Given the description of an element on the screen output the (x, y) to click on. 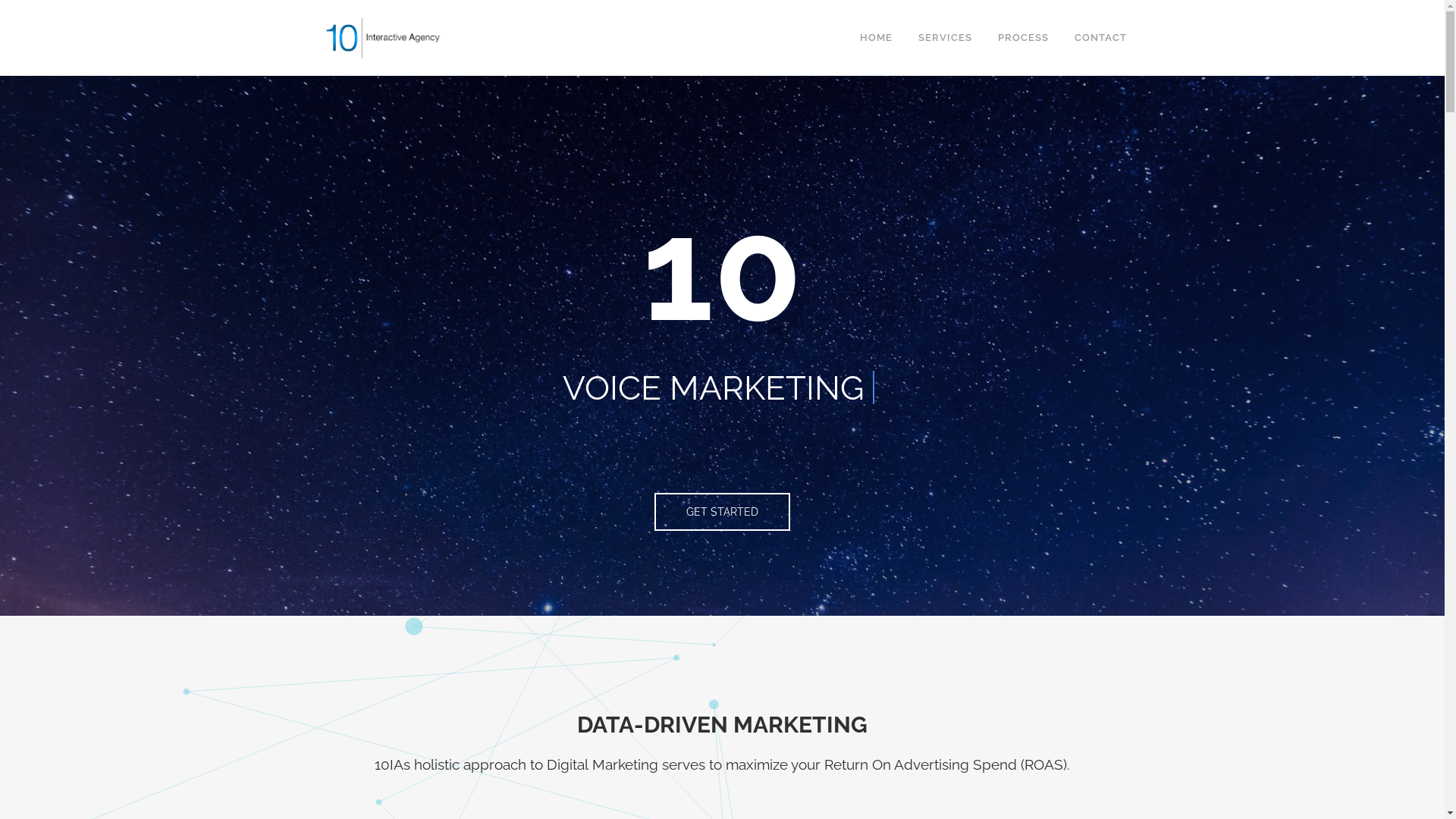
PROCESS Element type: text (1022, 37)
HOME Element type: text (875, 37)
GET STARTED Element type: text (722, 511)
SERVICES Element type: text (945, 37)
CONTACT Element type: text (1100, 37)
